Given the description of an element on the screen output the (x, y) to click on. 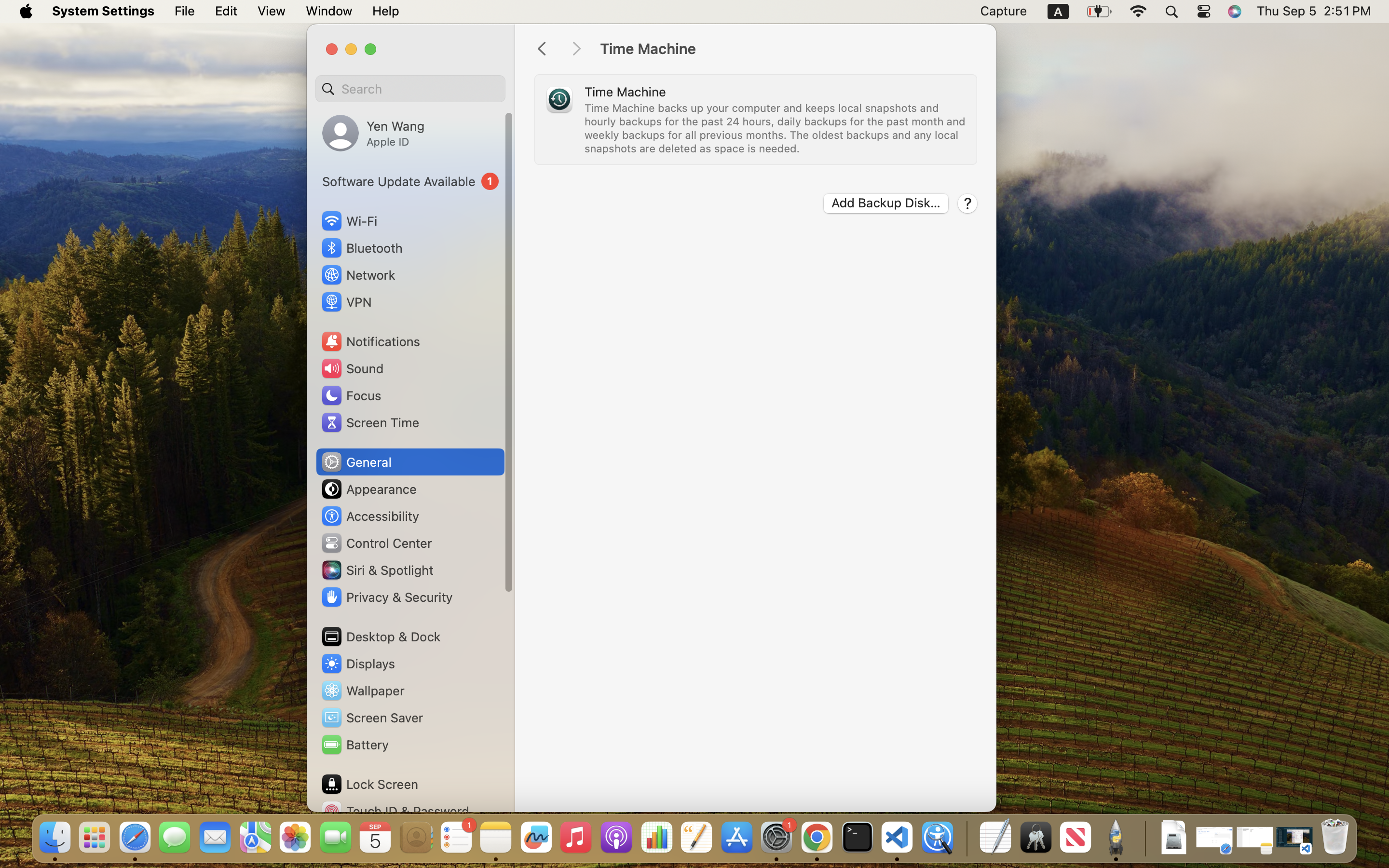
Sound Element type: AXStaticText (351, 367)
